Given the description of an element on the screen output the (x, y) to click on. 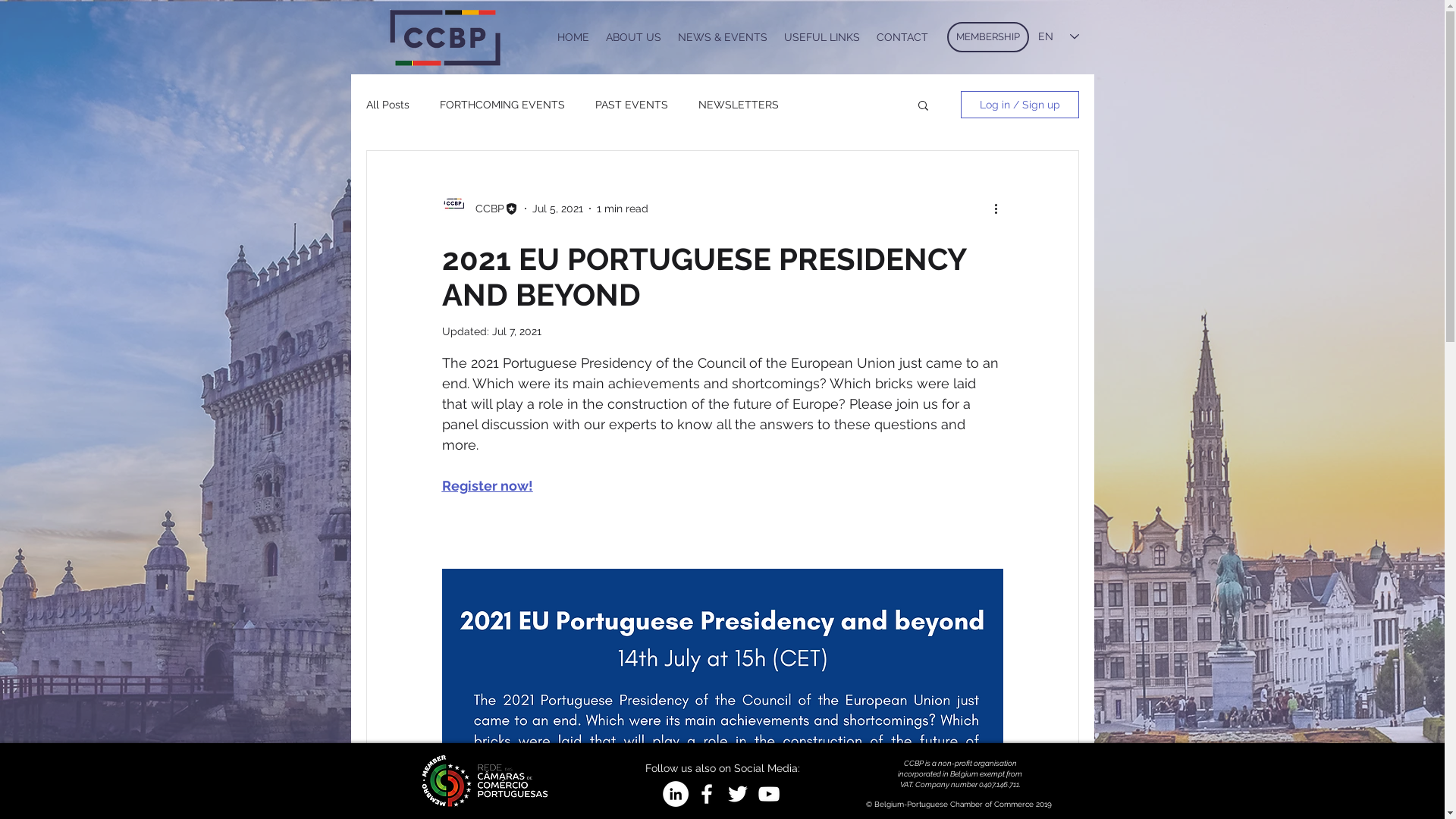
All Posts Element type: text (386, 104)
PAST EVENTS Element type: text (630, 104)
ABOUT US Element type: text (633, 36)
MEMBERSHIP Element type: text (987, 36)
NEWSLETTERS Element type: text (737, 104)
Register now! Element type: text (486, 485)
USEFUL LINKS Element type: text (821, 36)
NEWS & EVENTS Element type: text (721, 36)
FORTHCOMING EVENTS Element type: text (501, 104)
HOME Element type: text (573, 36)
Log in / Sign up Element type: text (1019, 104)
CONTACT Element type: text (901, 36)
